Given the description of an element on the screen output the (x, y) to click on. 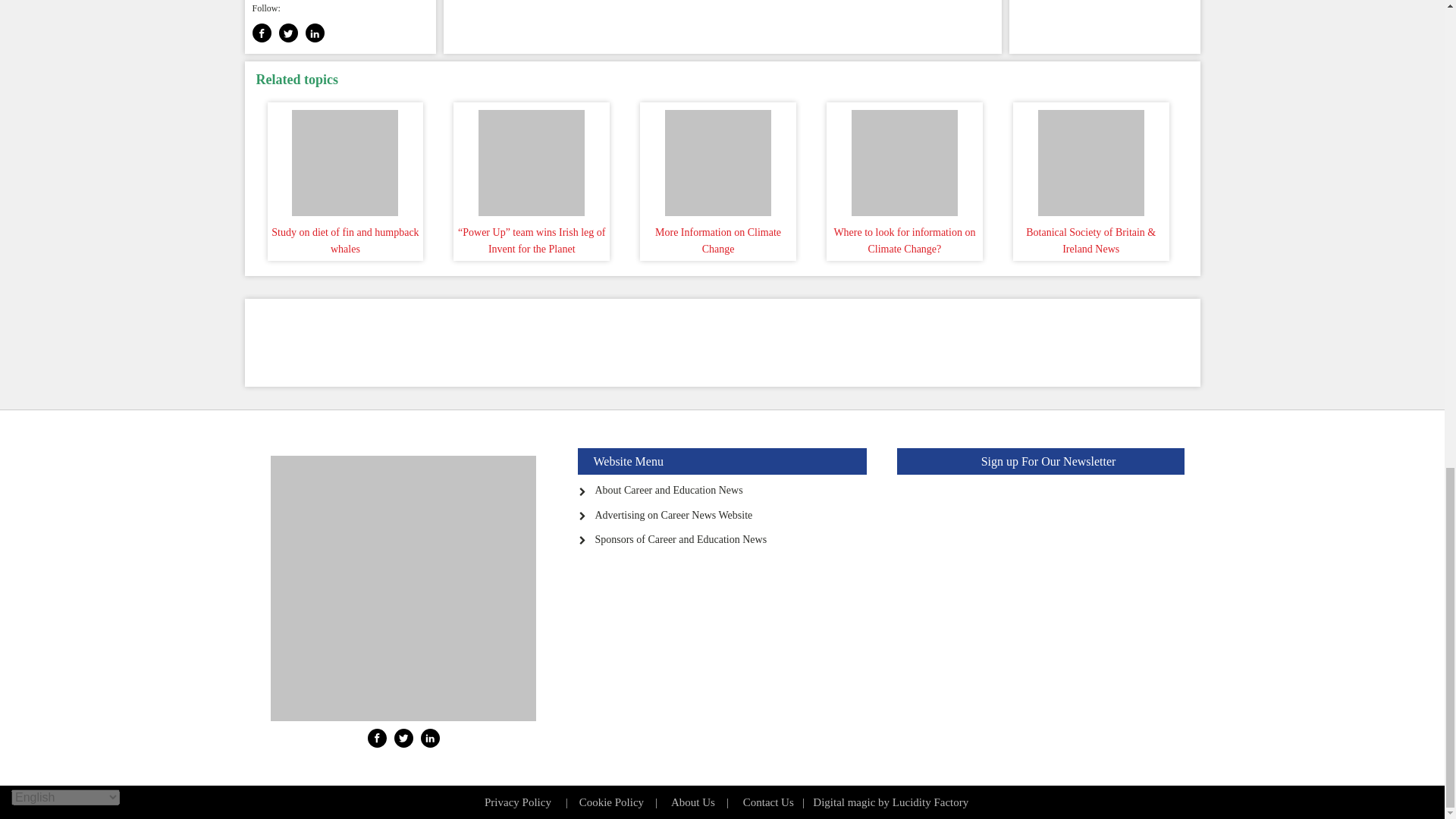
Study on diet of fin and humpback whales (345, 159)
Where to look for information on Climate Change? (903, 159)
More Information on Climate Change (717, 159)
